Given the description of an element on the screen output the (x, y) to click on. 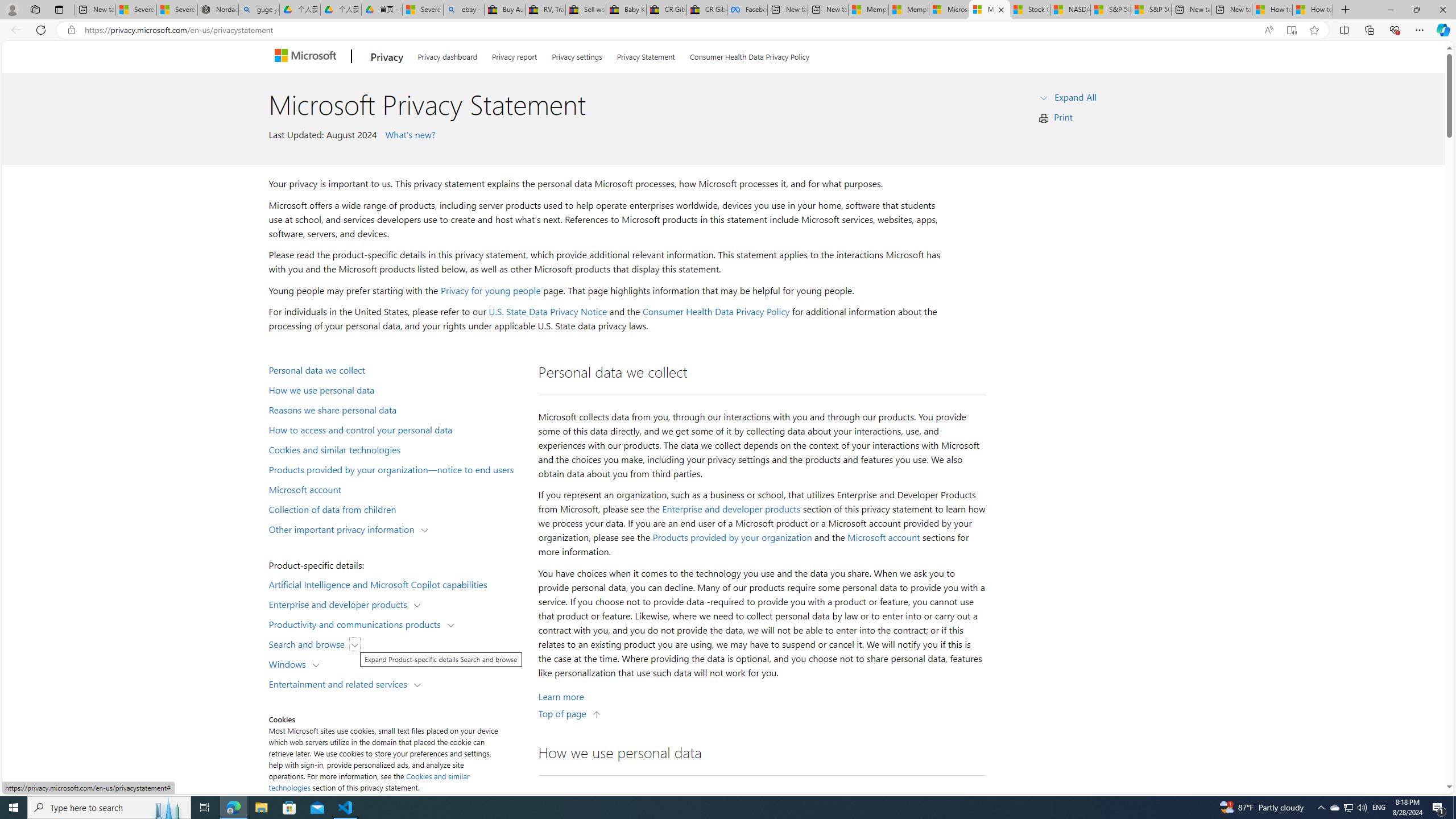
Productivity and communications products (356, 623)
Reasons we share personal data (395, 409)
Privacy Statement (645, 54)
Privacy report (514, 54)
Products provided by your organization (732, 537)
Microsoft account (395, 488)
S&P 500, Nasdaq end lower, weighed by Nvidia dip | Watch (1150, 9)
Top of page (569, 713)
Privacy report (514, 54)
